Given the description of an element on the screen output the (x, y) to click on. 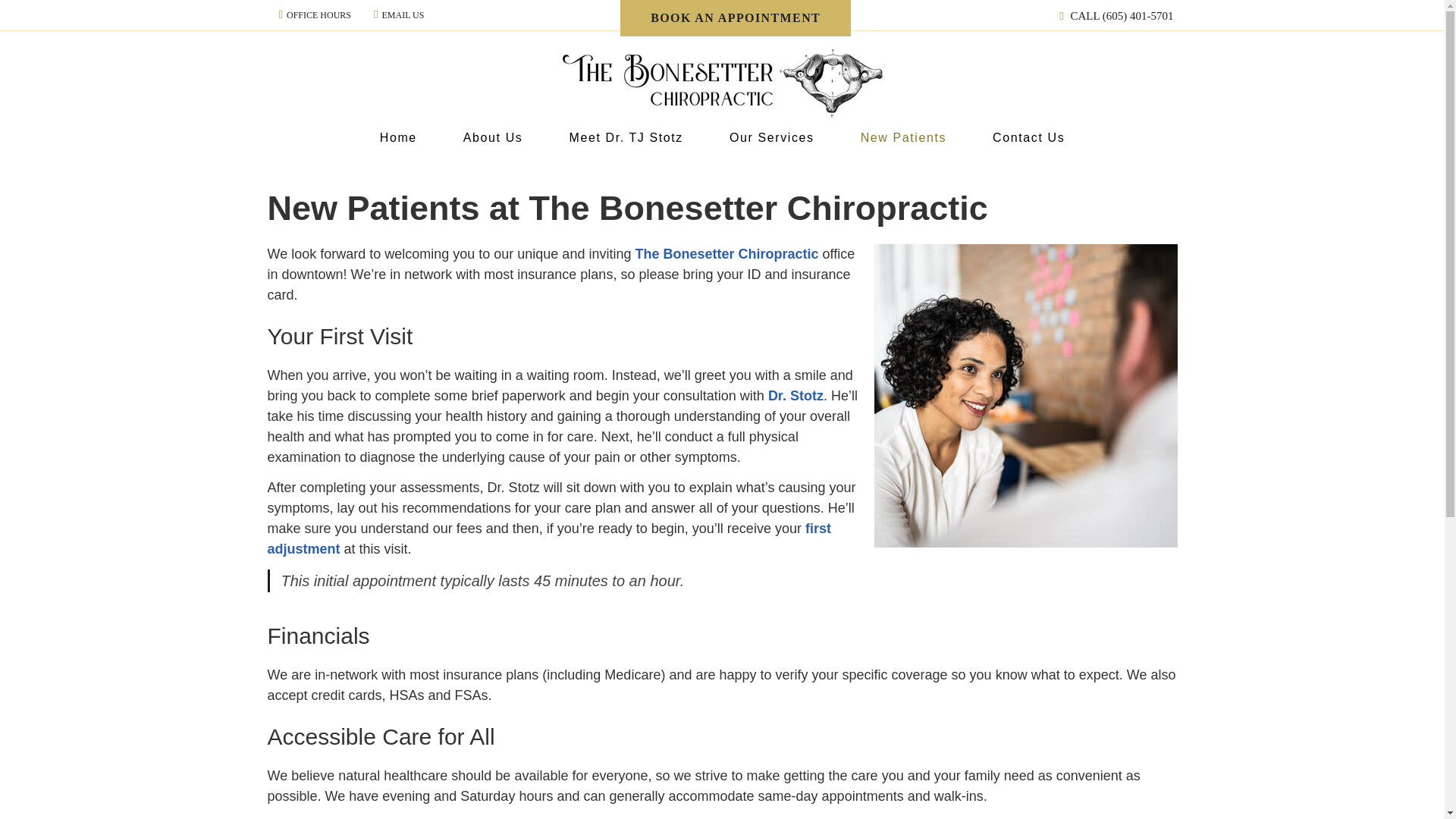
Dr. Stotz (796, 395)
OFFICE HOURS (314, 14)
EMAIL US (398, 14)
Contact Us (1028, 137)
Home (398, 137)
BOOK AN APPOINTMENT (735, 18)
The Bonesetter Chiropractic (722, 117)
The Bonesetter Chiropractic (726, 253)
Our Services (772, 137)
Meet Dr. TJ Stotz (626, 137)
